Given the description of an element on the screen output the (x, y) to click on. 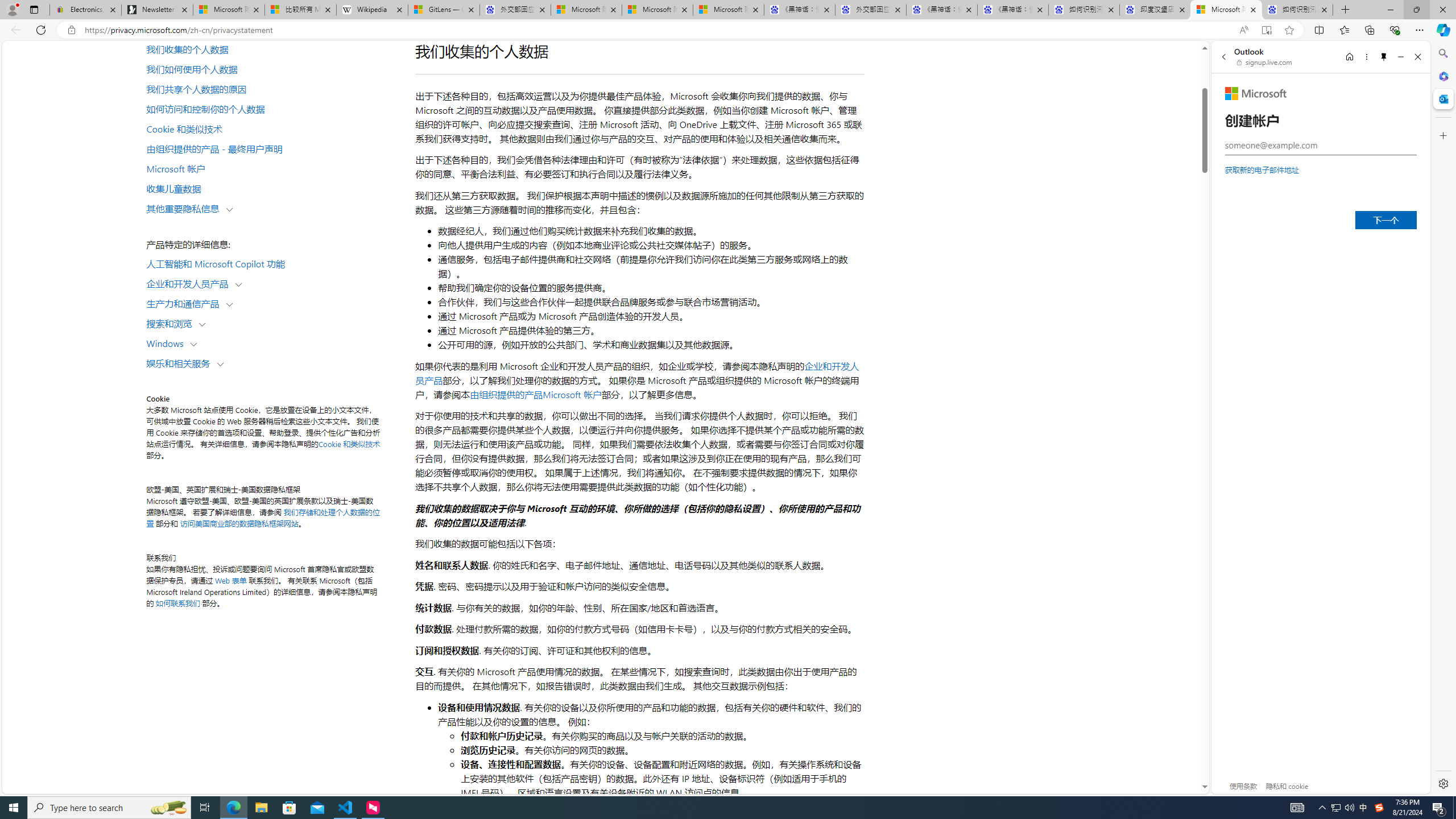
Home (1348, 56)
